Given the description of an element on the screen output the (x, y) to click on. 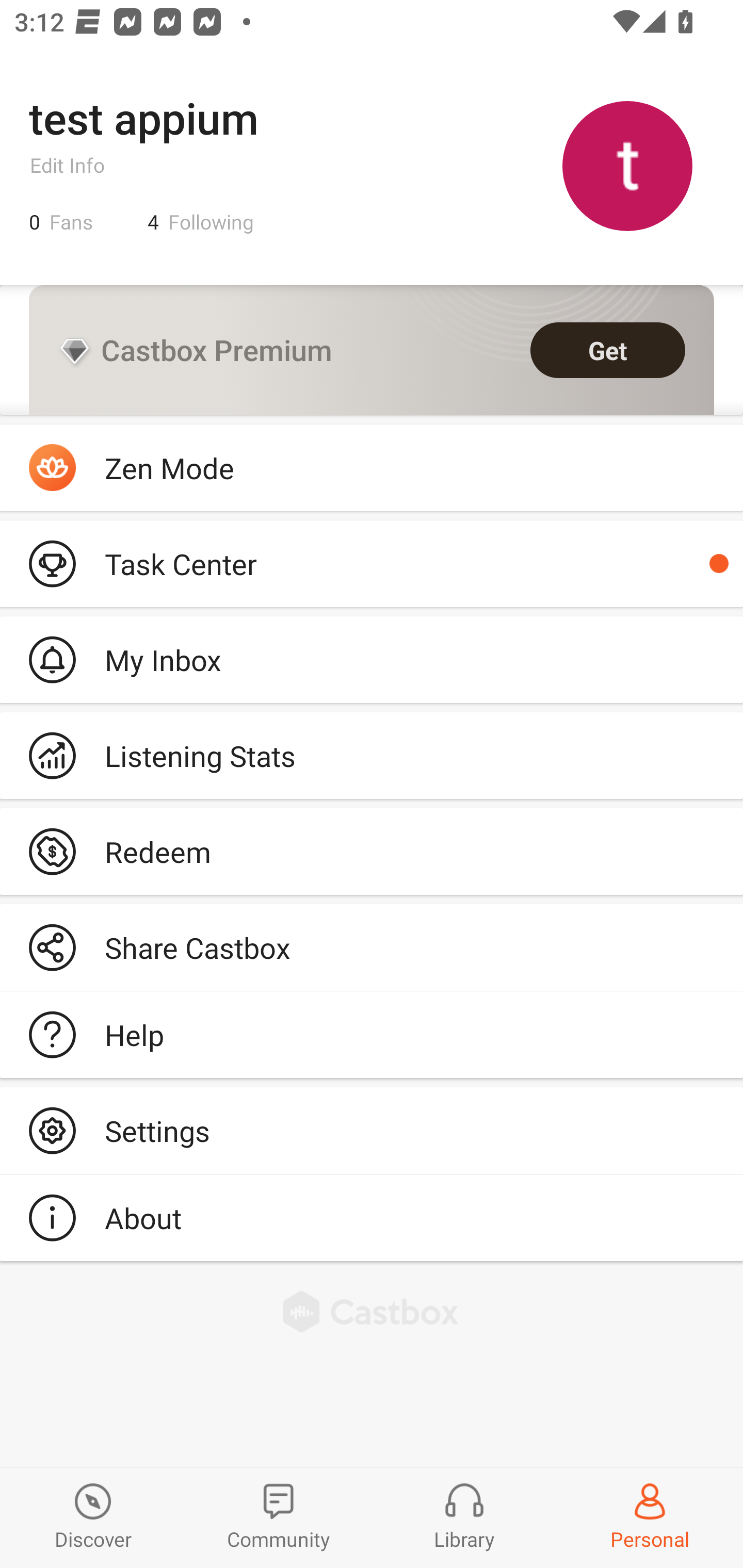
test appium Edit Info 0 Fans 4 Following (371, 165)
0 Fans (60, 221)
4 Following (200, 221)
Castbox Premium Get (371, 350)
Get (607, 350)
Zen Mode (371, 467)
Podcaster  Task Center (371, 563)
 My Inbox (371, 659)
 Listening Stats (371, 755)
 Redeem (371, 851)
 Share Castbox (371, 947)
 Help (371, 1034)
 Settings (371, 1130)
 About (371, 1217)
Discover (92, 1517)
Community (278, 1517)
Library (464, 1517)
Profiles and Settings Personal (650, 1517)
